Given the description of an element on the screen output the (x, y) to click on. 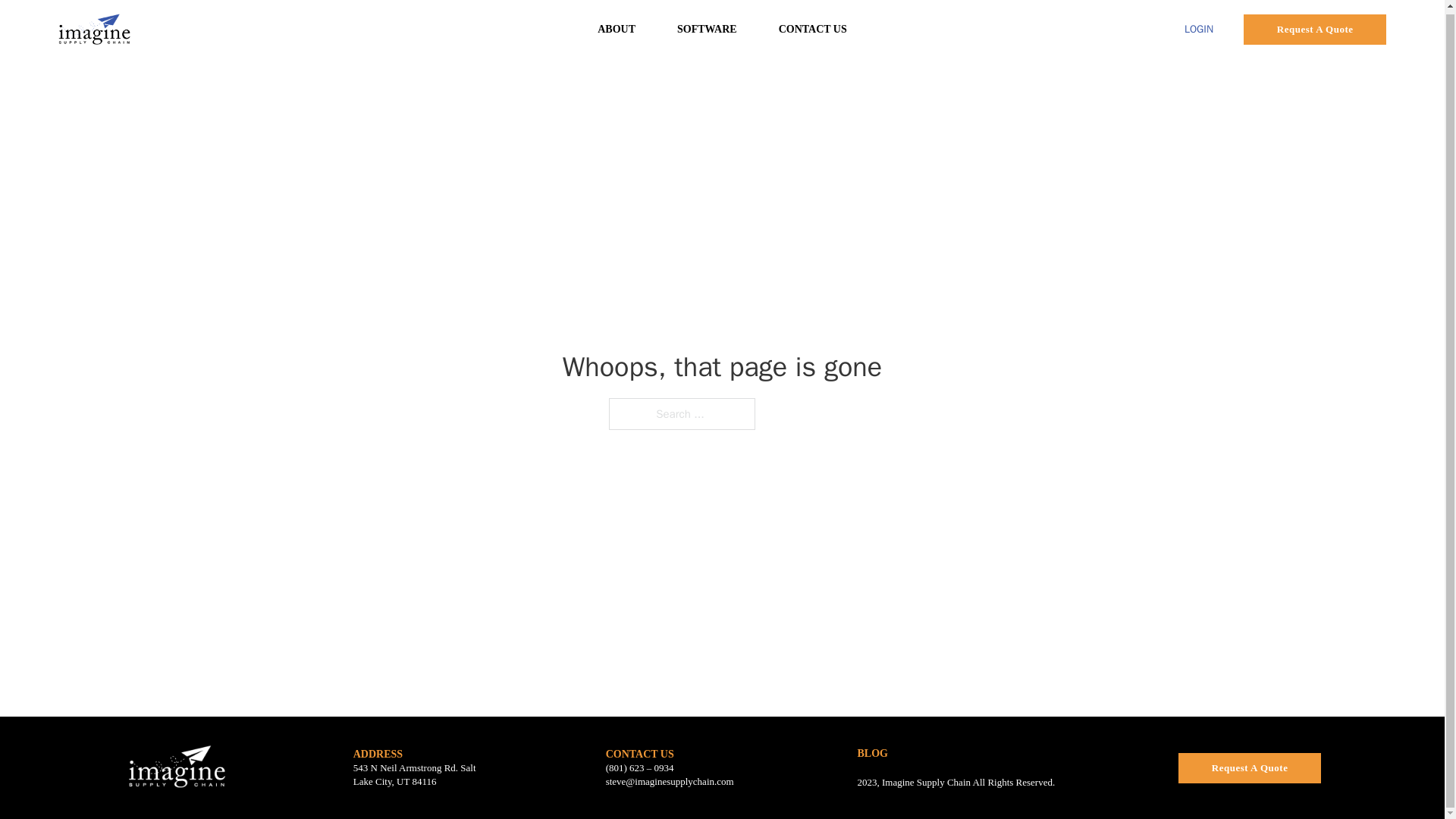
Request A Quote (1314, 28)
CONTACT US (812, 29)
LOGIN (1198, 29)
SOFTWARE (706, 29)
Request A Quote (1248, 767)
ABOUT (615, 29)
BLOG (872, 753)
CONTACT US (639, 754)
